Given the description of an element on the screen output the (x, y) to click on. 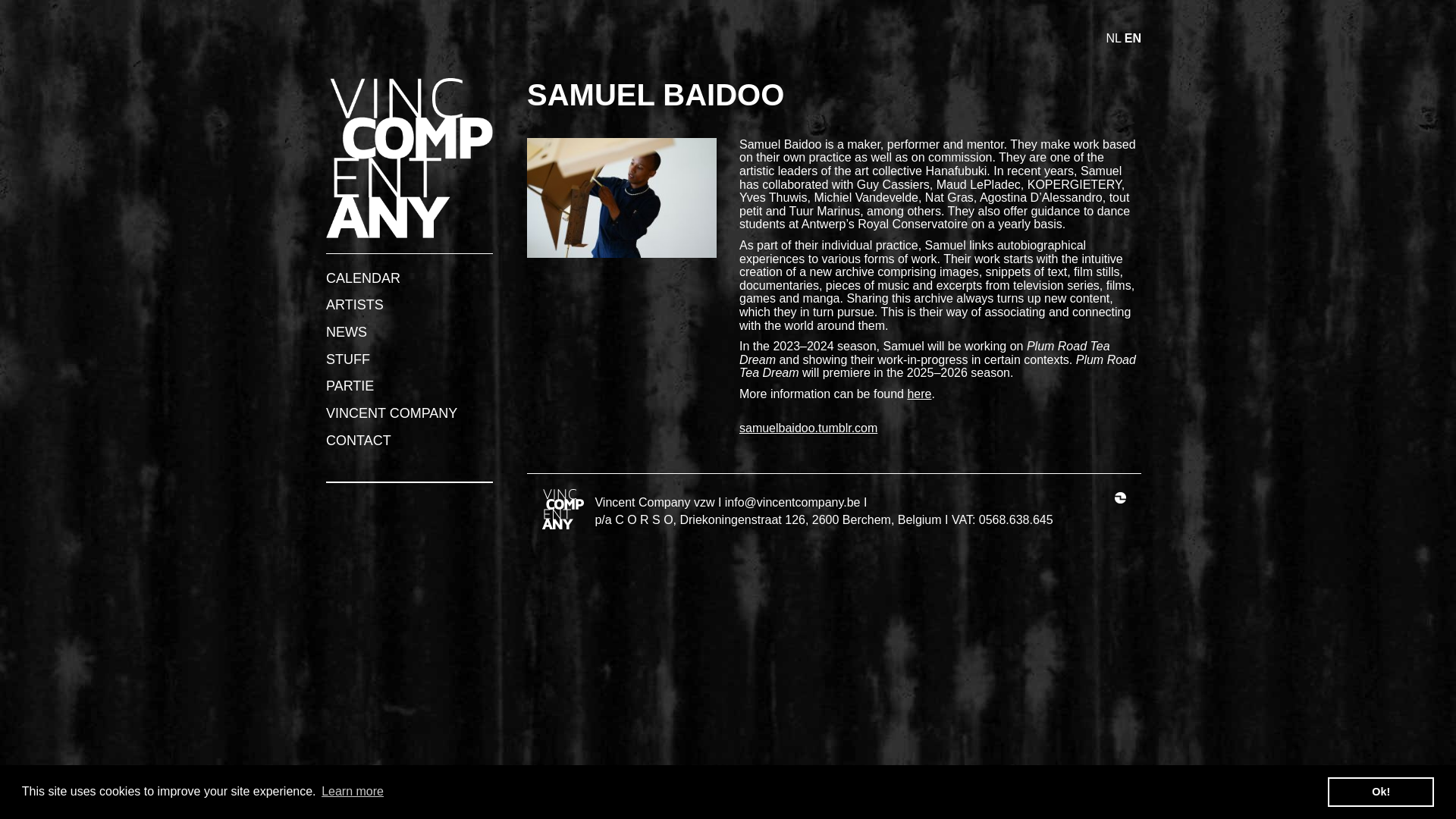
CALENDAR (363, 278)
EN (1132, 38)
here (919, 393)
VINCENT COMPANY (391, 412)
CONTACT (358, 440)
PARTIE (350, 385)
NL (1114, 38)
samuelbaidoo.tumblr.com (808, 434)
NEWS (346, 331)
STUFF (347, 359)
ARTISTS (355, 304)
